Given the description of an element on the screen output the (x, y) to click on. 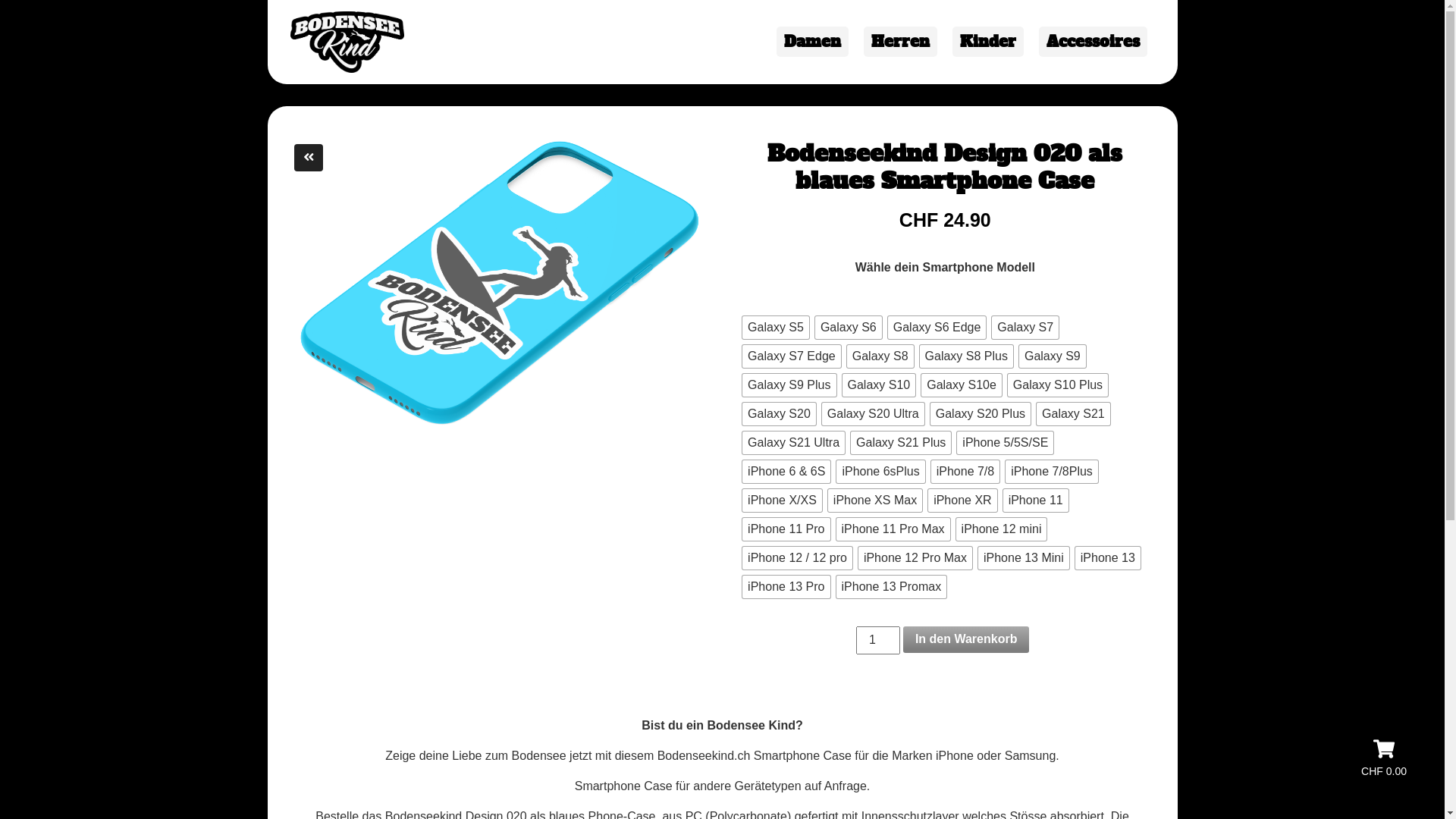
In den Warenkorb Element type: text (966, 639)
Herren Element type: text (899, 41)
bodenseekind-design-020-phonecover-blau Element type: hover (499, 284)
CHF 0.00 Element type: text (1383, 758)
Damen Element type: text (812, 41)
Kinder Element type: text (987, 41)
Accessoires Element type: text (1092, 41)
